Given the description of an element on the screen output the (x, y) to click on. 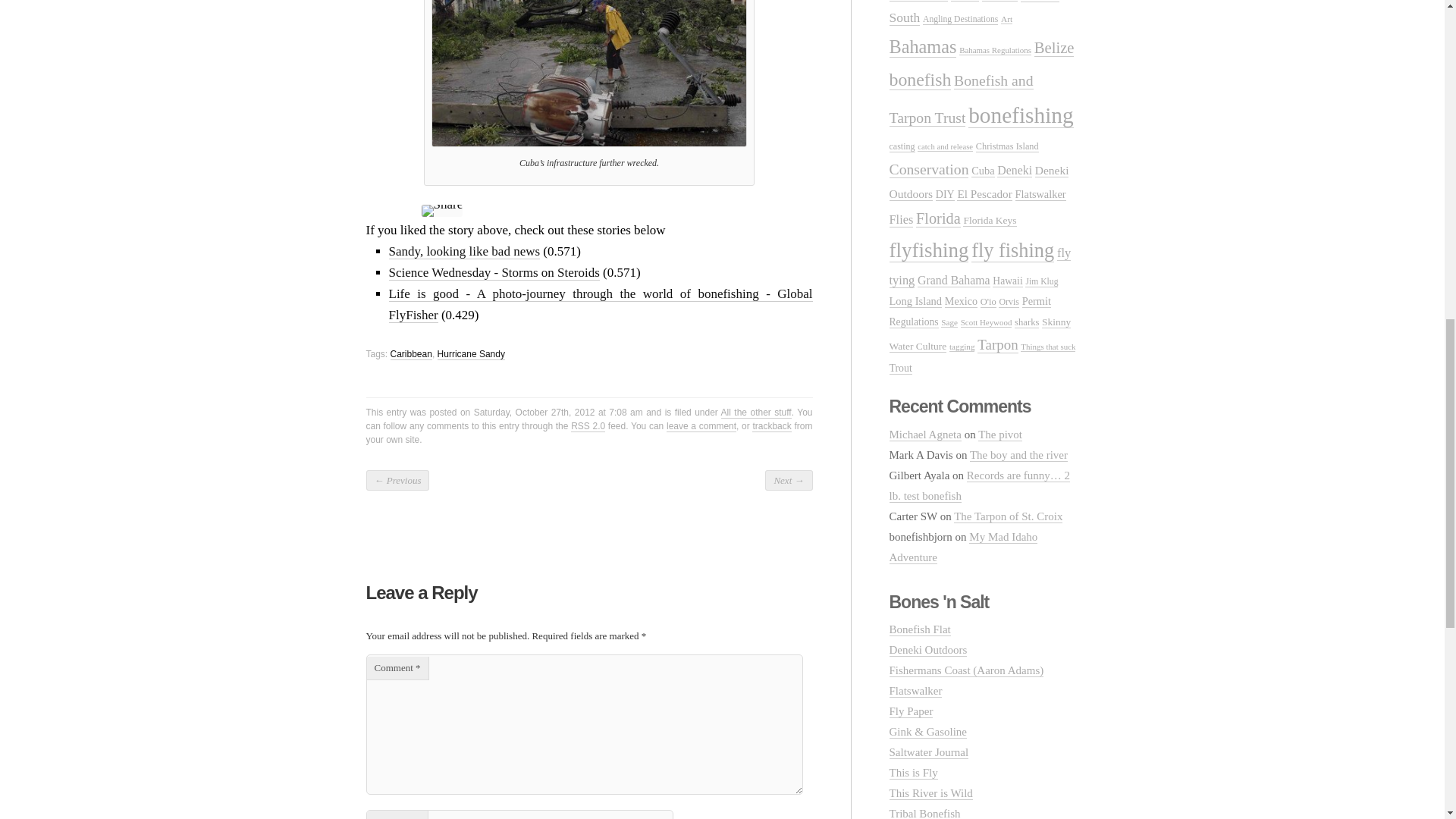
RSS 2.0 (587, 426)
Cuba Sandy (588, 73)
leave a comment (701, 426)
Caribbean (411, 354)
Science Wednesday - Storms on Steroids (493, 272)
Hurricane Sandy (471, 354)
trackback (771, 426)
Sandy, looking like bad news (464, 251)
All the other stuff (756, 412)
